Given the description of an element on the screen output the (x, y) to click on. 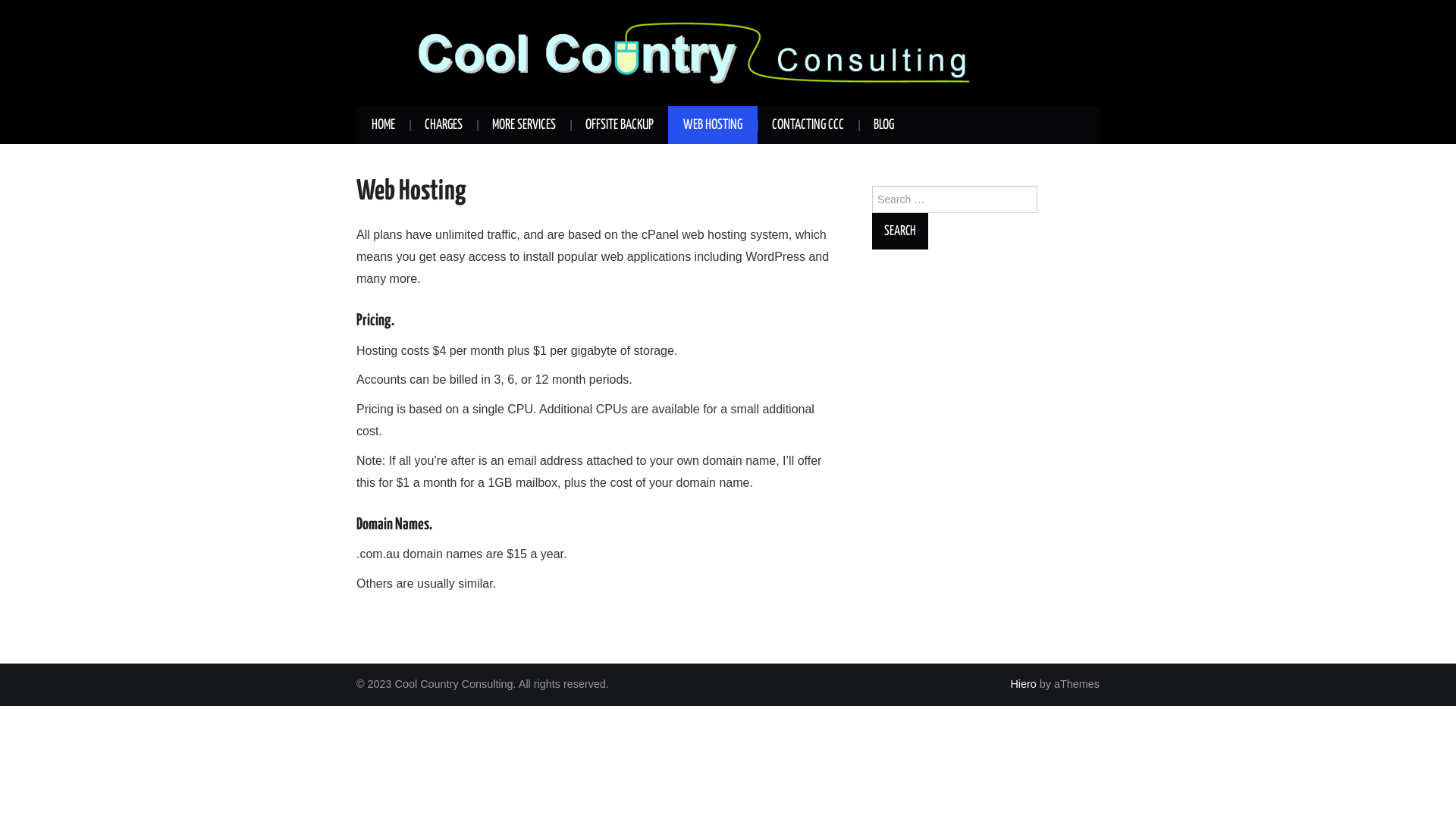
Search Element type: text (900, 231)
WEB HOSTING Element type: text (712, 125)
Search for: Element type: hover (954, 199)
HOME Element type: text (383, 125)
BLOG Element type: text (883, 125)
CONTACTING CCC Element type: text (807, 125)
Cool Country Consulting Element type: hover (697, 51)
CHARGES Element type: text (443, 125)
Hiero Element type: text (1022, 683)
MORE SERVICES Element type: text (523, 125)
OFFSITE BACKUP Element type: text (619, 125)
